Given the description of an element on the screen output the (x, y) to click on. 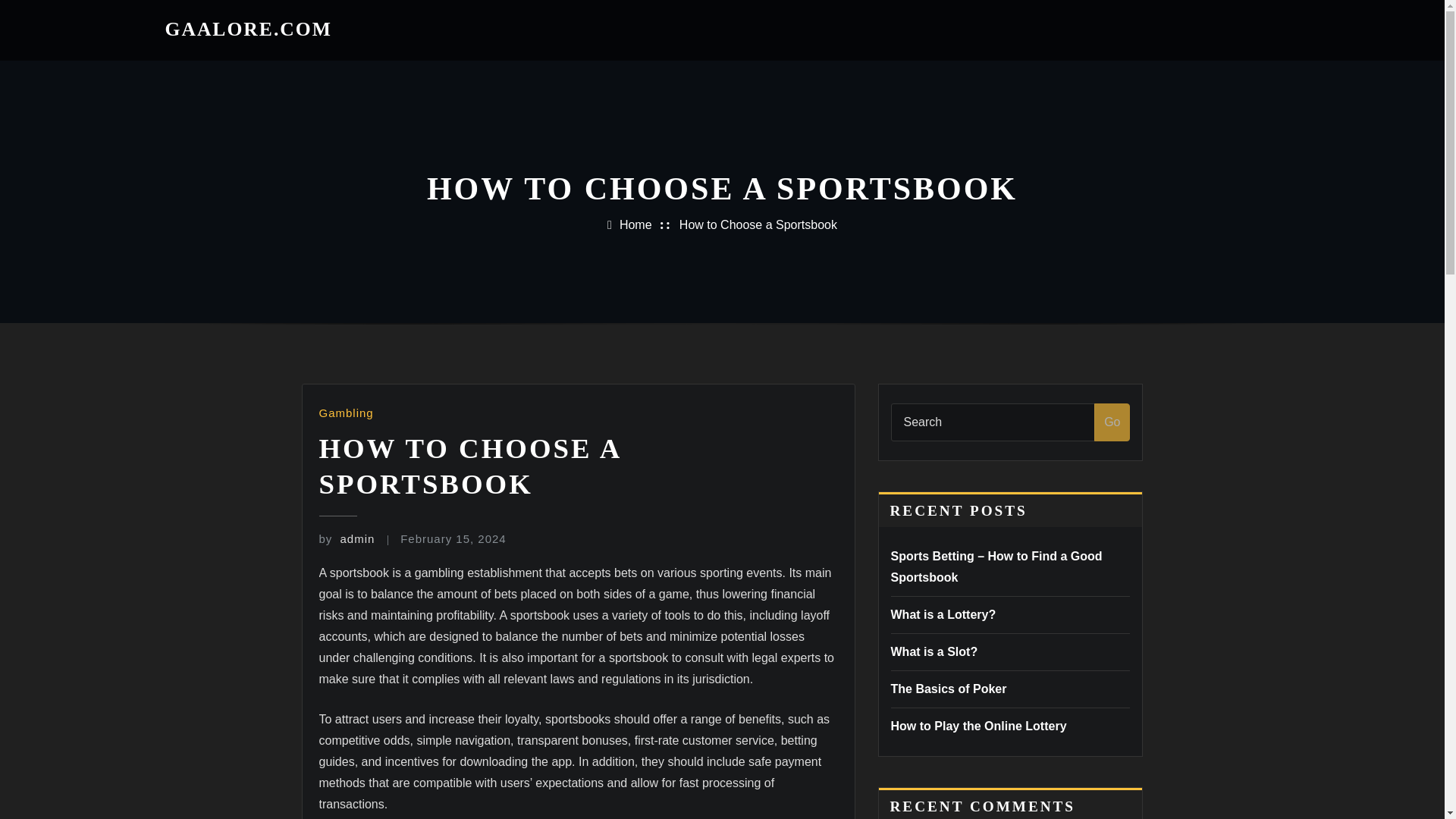
How to Choose a Sportsbook (758, 224)
How to Play the Online Lottery (977, 725)
What is a Lottery? (942, 614)
Gambling (345, 412)
GAALORE.COM (248, 29)
Go (1111, 422)
February 15, 2024 (453, 538)
by admin (346, 538)
Home (636, 224)
What is a Slot? (932, 651)
